Given the description of an element on the screen output the (x, y) to click on. 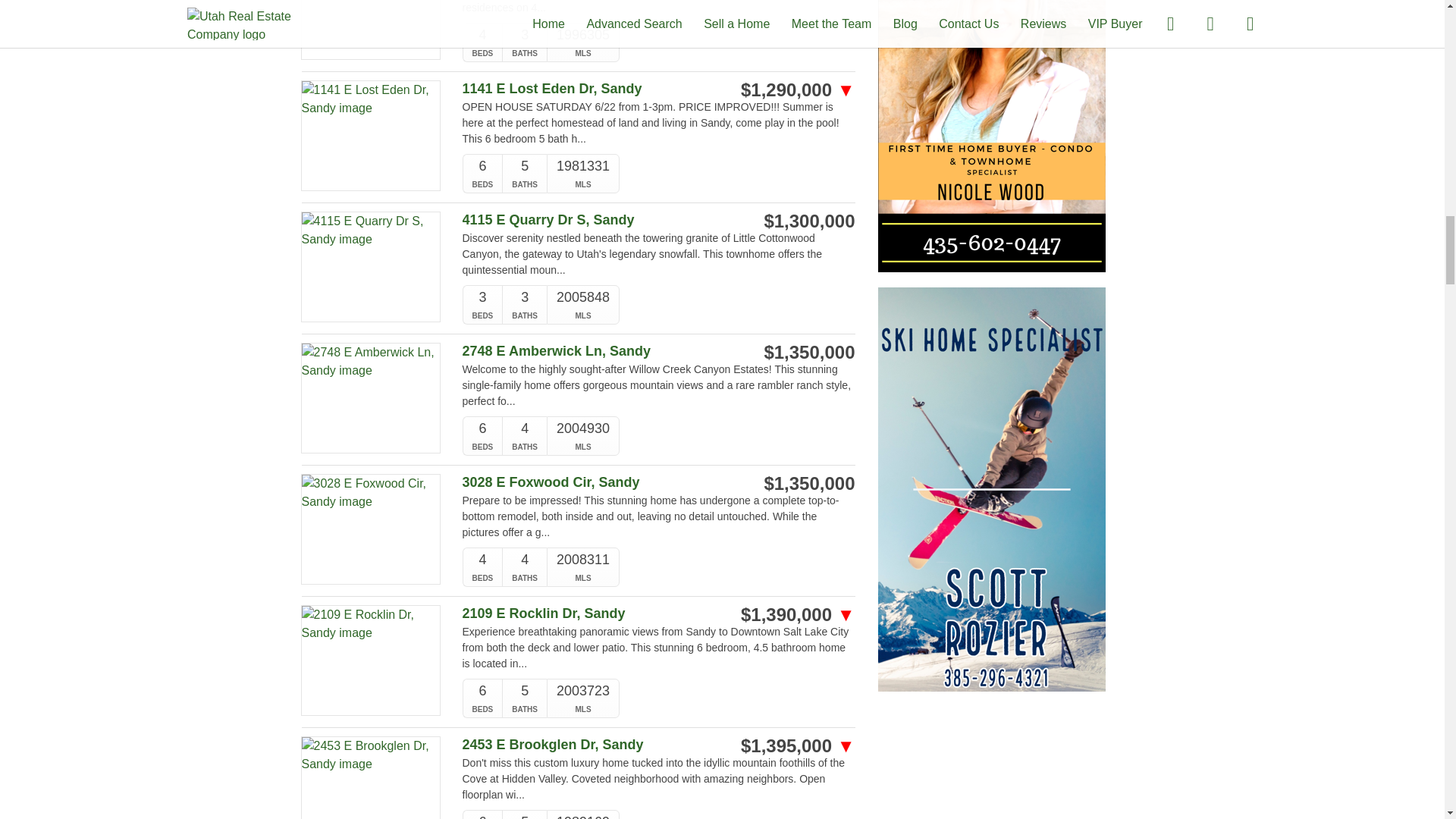
Nicole Wood First Time Home Buyer Specialist (991, 110)
